Given the description of an element on the screen output the (x, y) to click on. 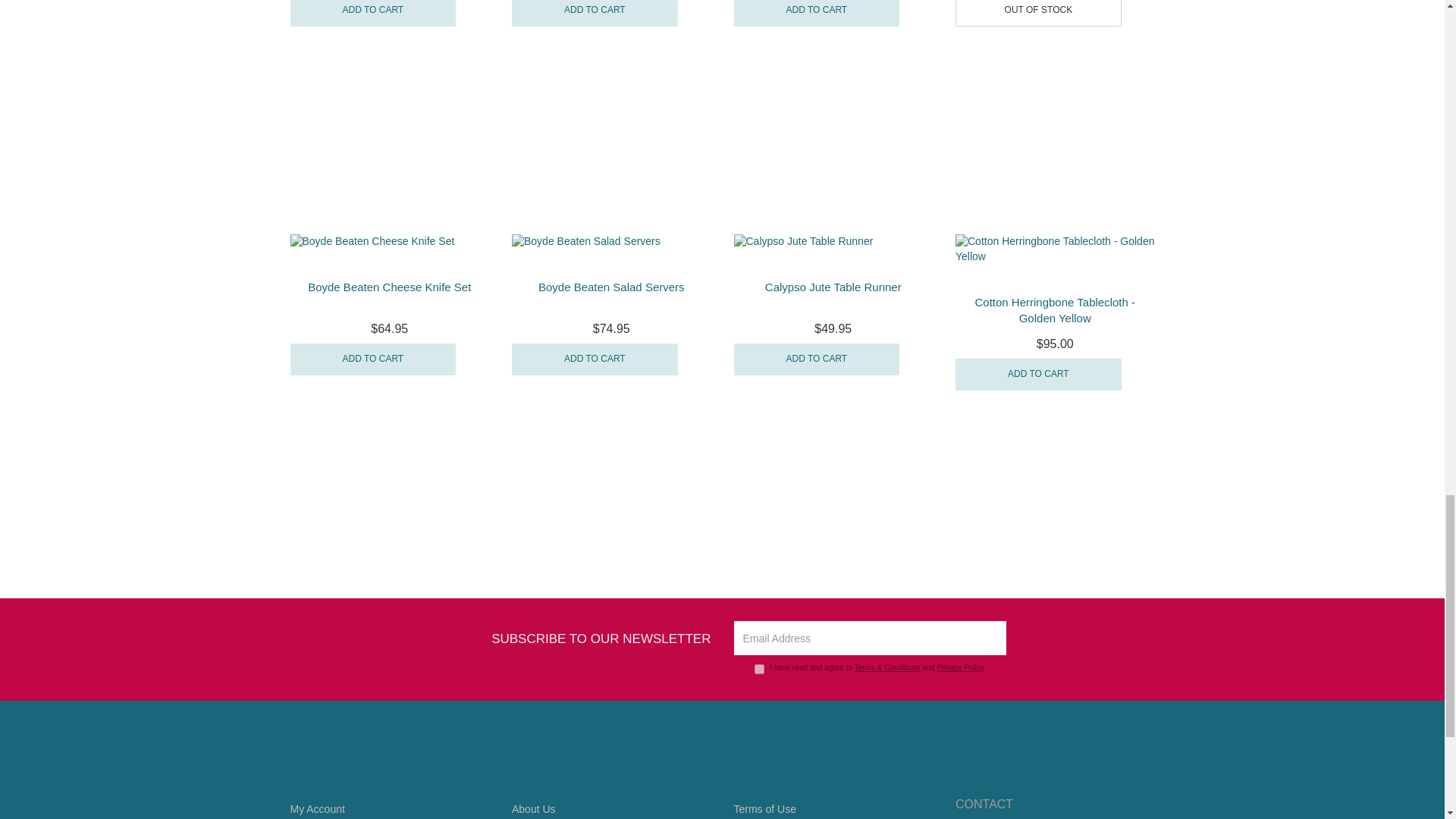
Add to Cart (816, 13)
y (759, 669)
Add to Cart (595, 13)
Add to Cart (372, 13)
Notify Me When Back In Stock (1038, 13)
